Given the description of an element on the screen output the (x, y) to click on. 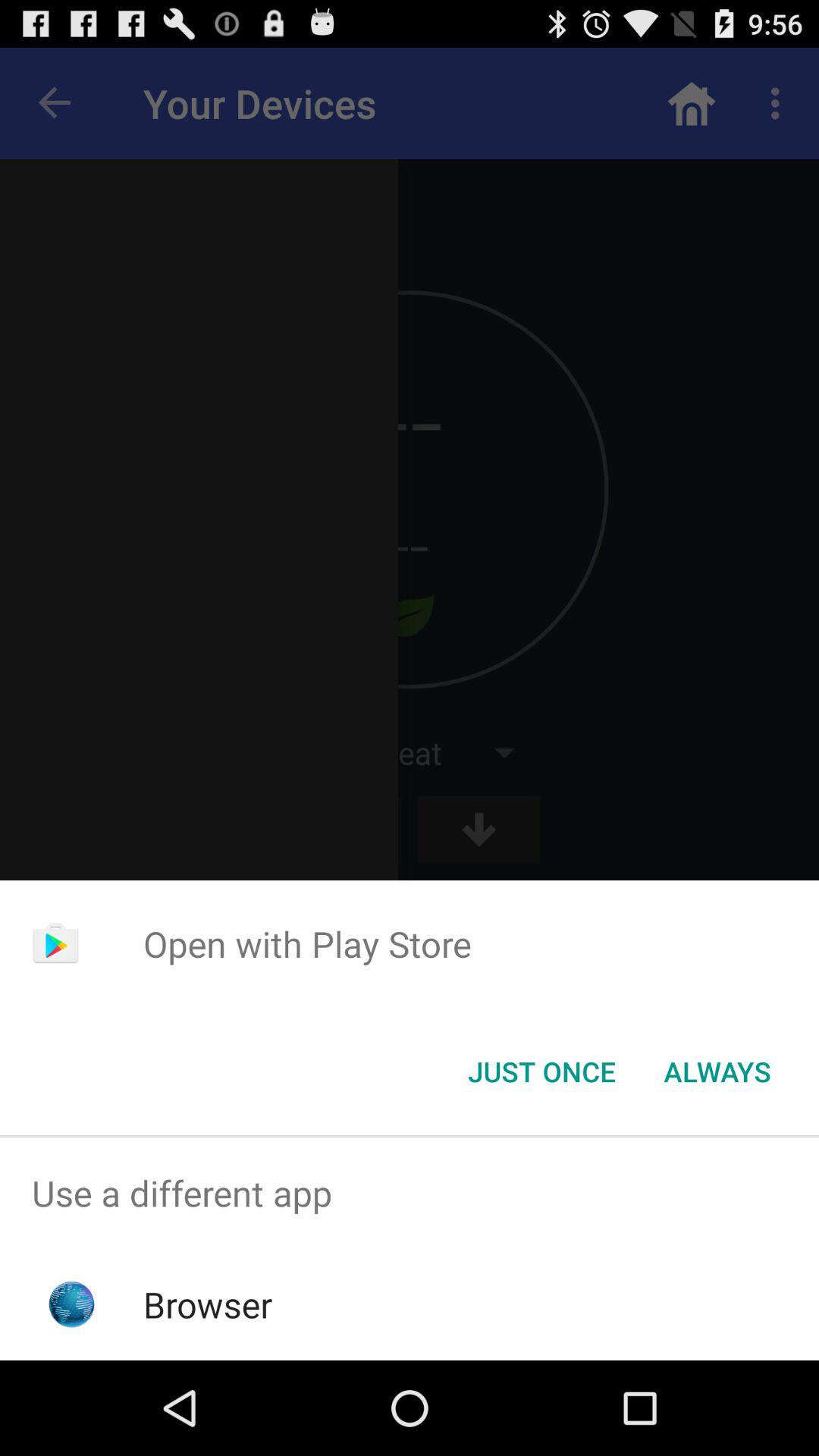
turn off use a different icon (409, 1192)
